Given the description of an element on the screen output the (x, y) to click on. 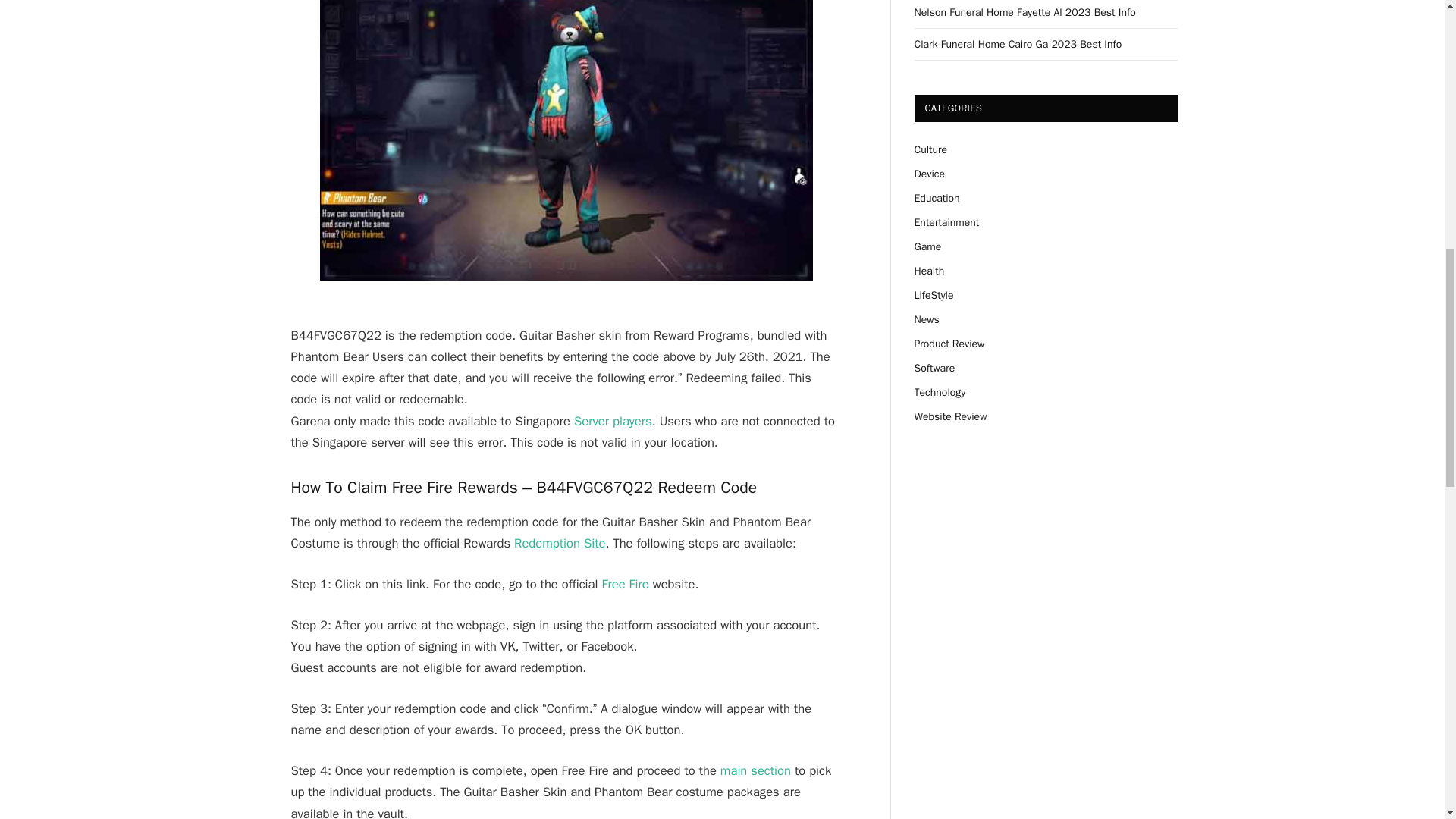
main section (755, 770)
Free Fire (624, 584)
Redemption Site (559, 543)
Server players (612, 421)
